Given the description of an element on the screen output the (x, y) to click on. 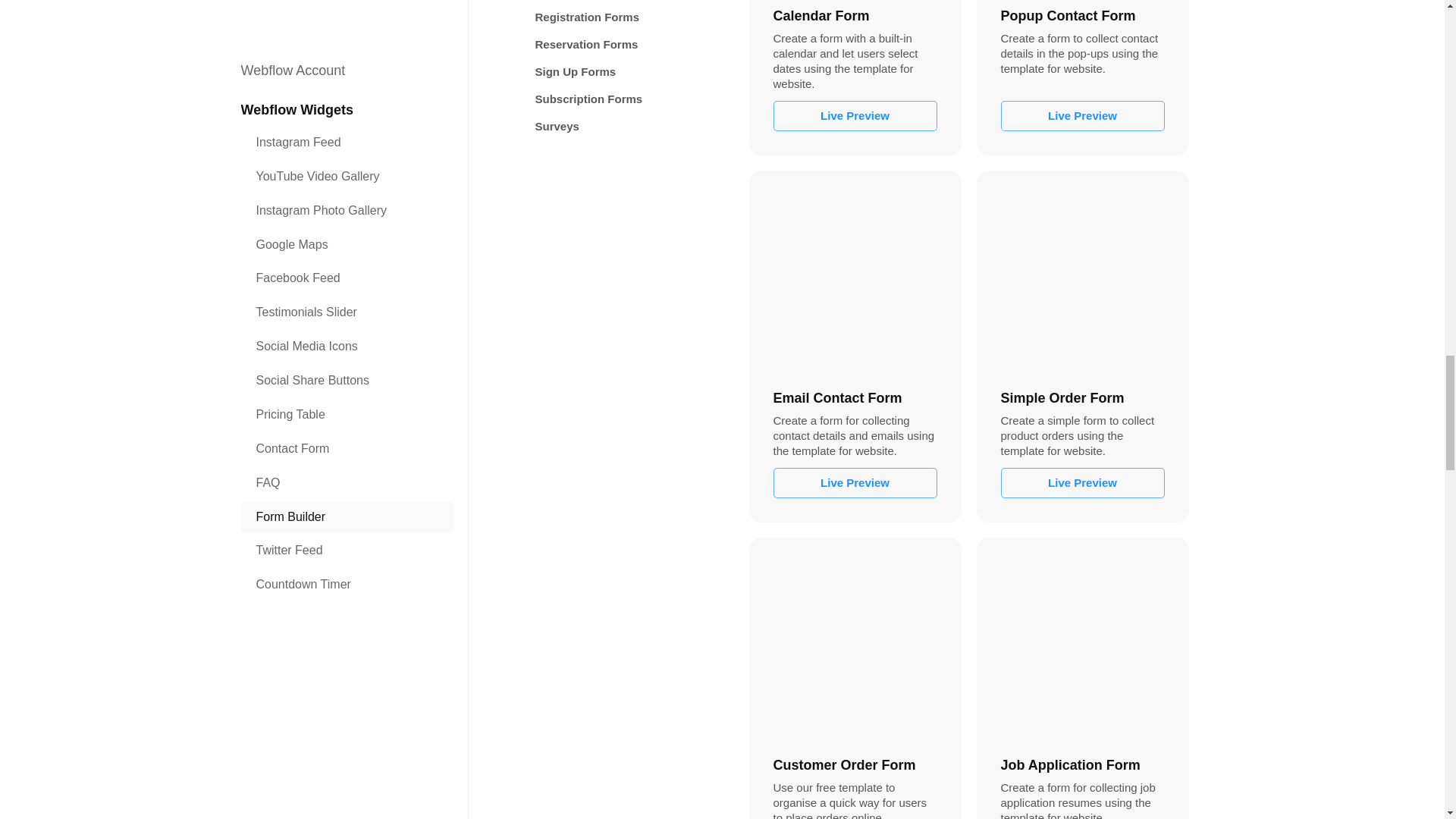
Job Application Form (1082, 644)
Email Contact Form (855, 276)
Simple Order Form (1082, 276)
Customer Order Form (855, 644)
